Given the description of an element on the screen output the (x, y) to click on. 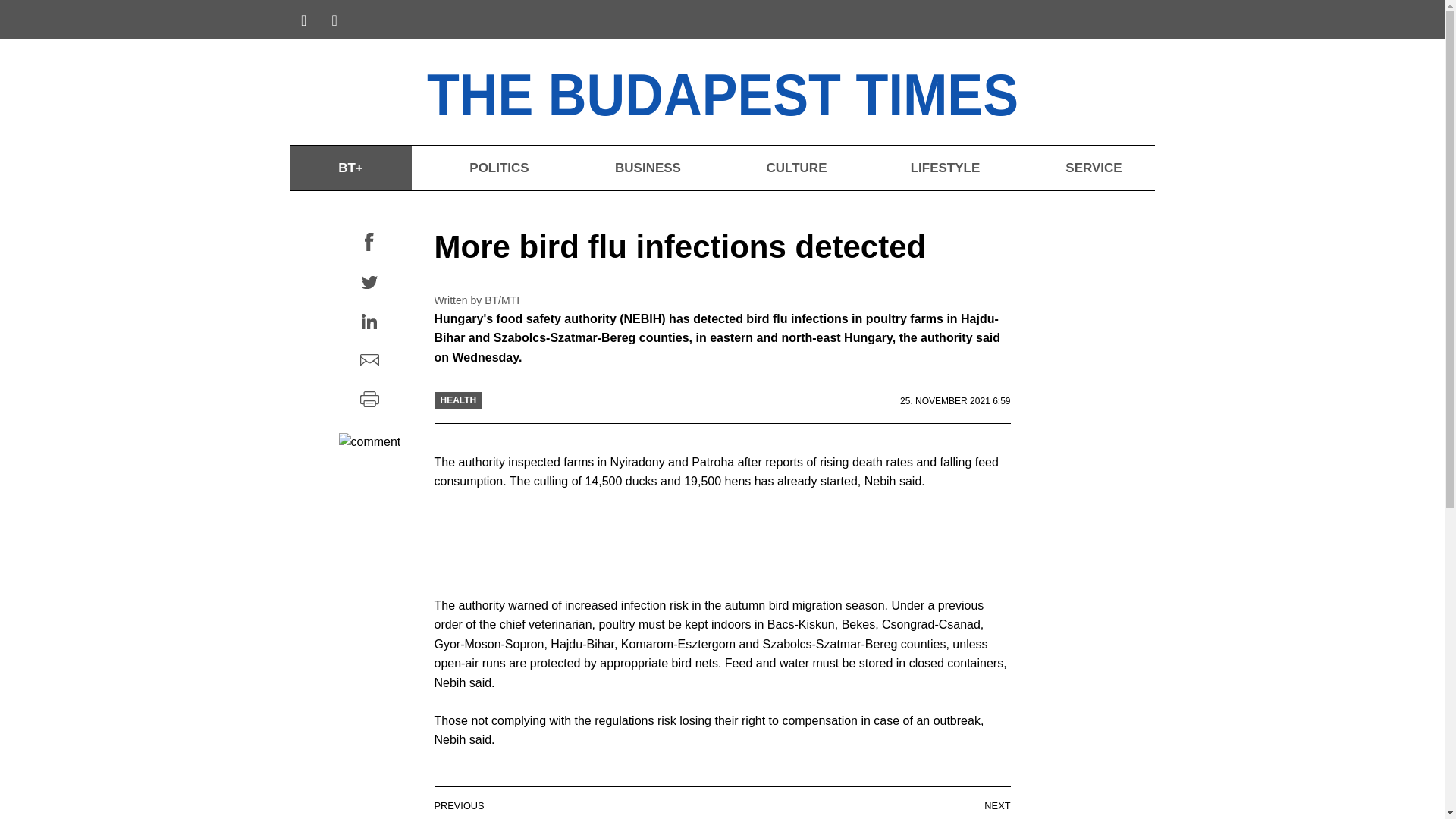
Facebook (368, 242)
Twitter (368, 283)
SERVICE (1093, 167)
LinkedIn (368, 322)
Print (368, 400)
THE BUDAPEST TIMES (765, 91)
Login (1131, 20)
CULTURE (796, 167)
LIFESTYLE (944, 167)
POLITICS (498, 167)
